Given the description of an element on the screen output the (x, y) to click on. 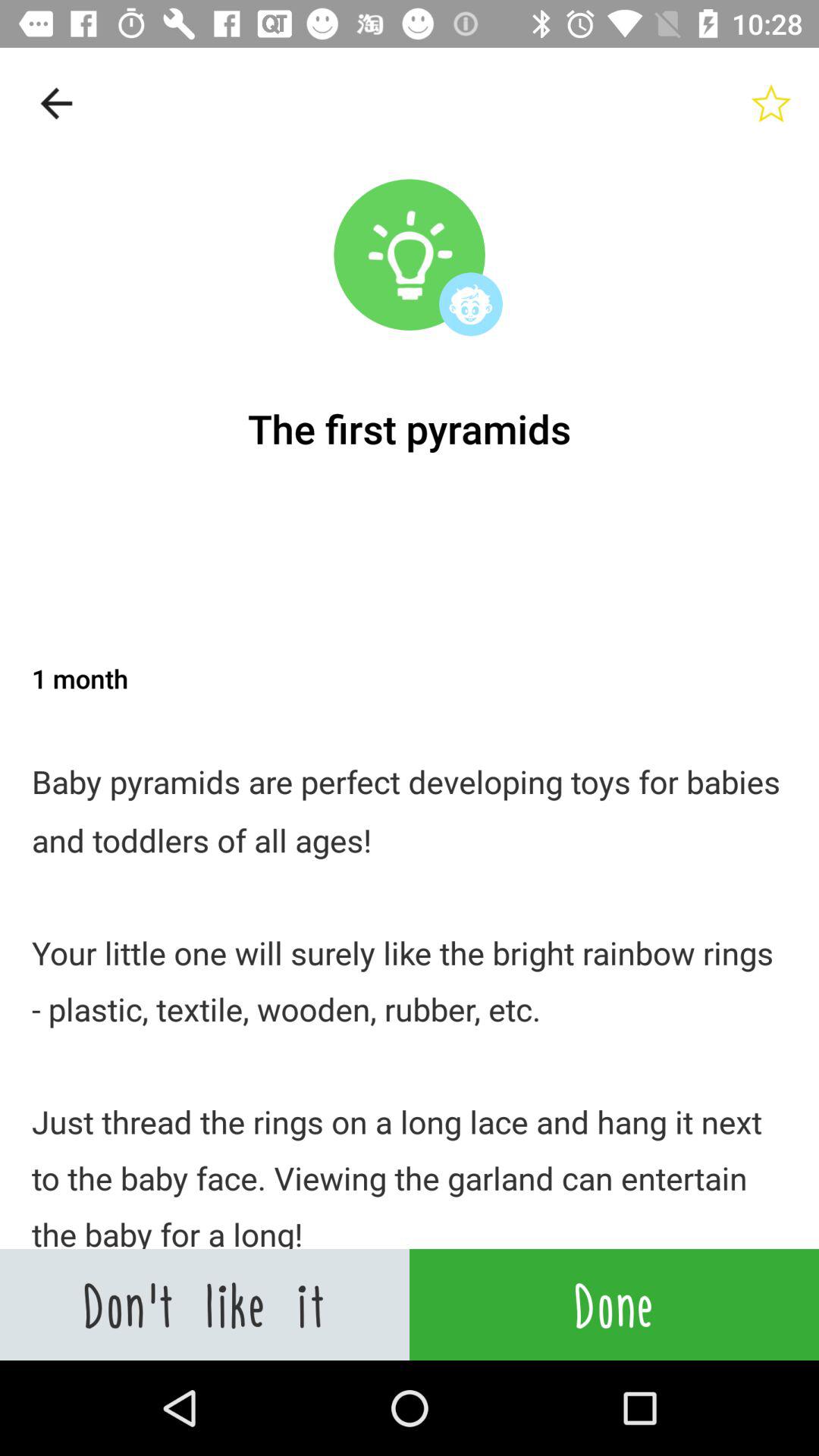
scroll to the done item (614, 1304)
